Given the description of an element on the screen output the (x, y) to click on. 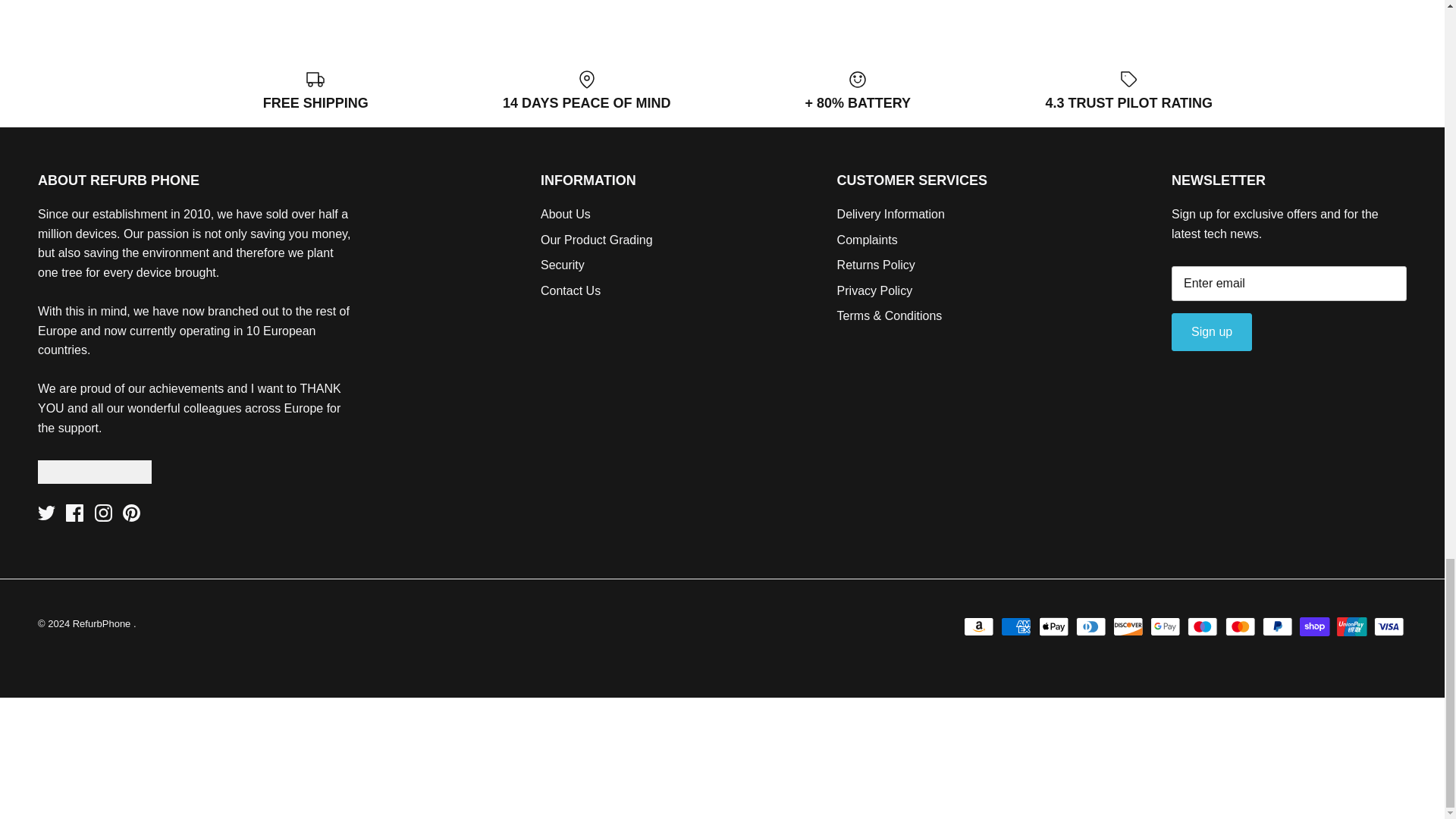
Facebook (73, 512)
Diners Club (1090, 626)
Apple Pay (1053, 626)
Pinterest (130, 512)
Instagram (103, 512)
Discover (1127, 626)
Twitter (46, 512)
Amazon (978, 626)
Label (1128, 79)
American Express (1015, 626)
